Given the description of an element on the screen output the (x, y) to click on. 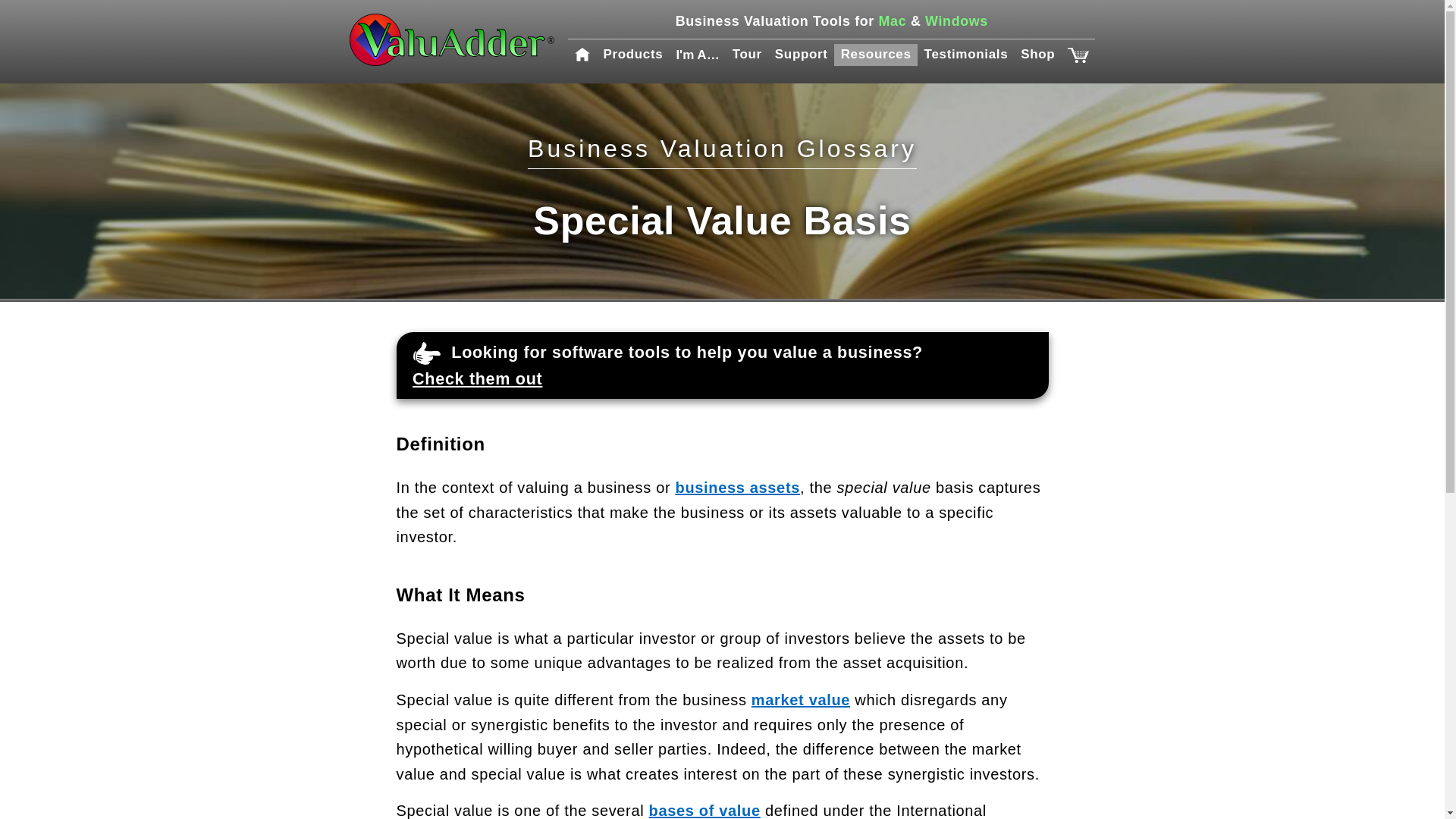
business assets (737, 487)
ValuAdder Home (451, 40)
Products (632, 55)
bases of value (704, 810)
Support (801, 55)
market value (800, 699)
ValuAdder Tour (746, 55)
Customer Support (801, 55)
Resources (875, 55)
